Given the description of an element on the screen output the (x, y) to click on. 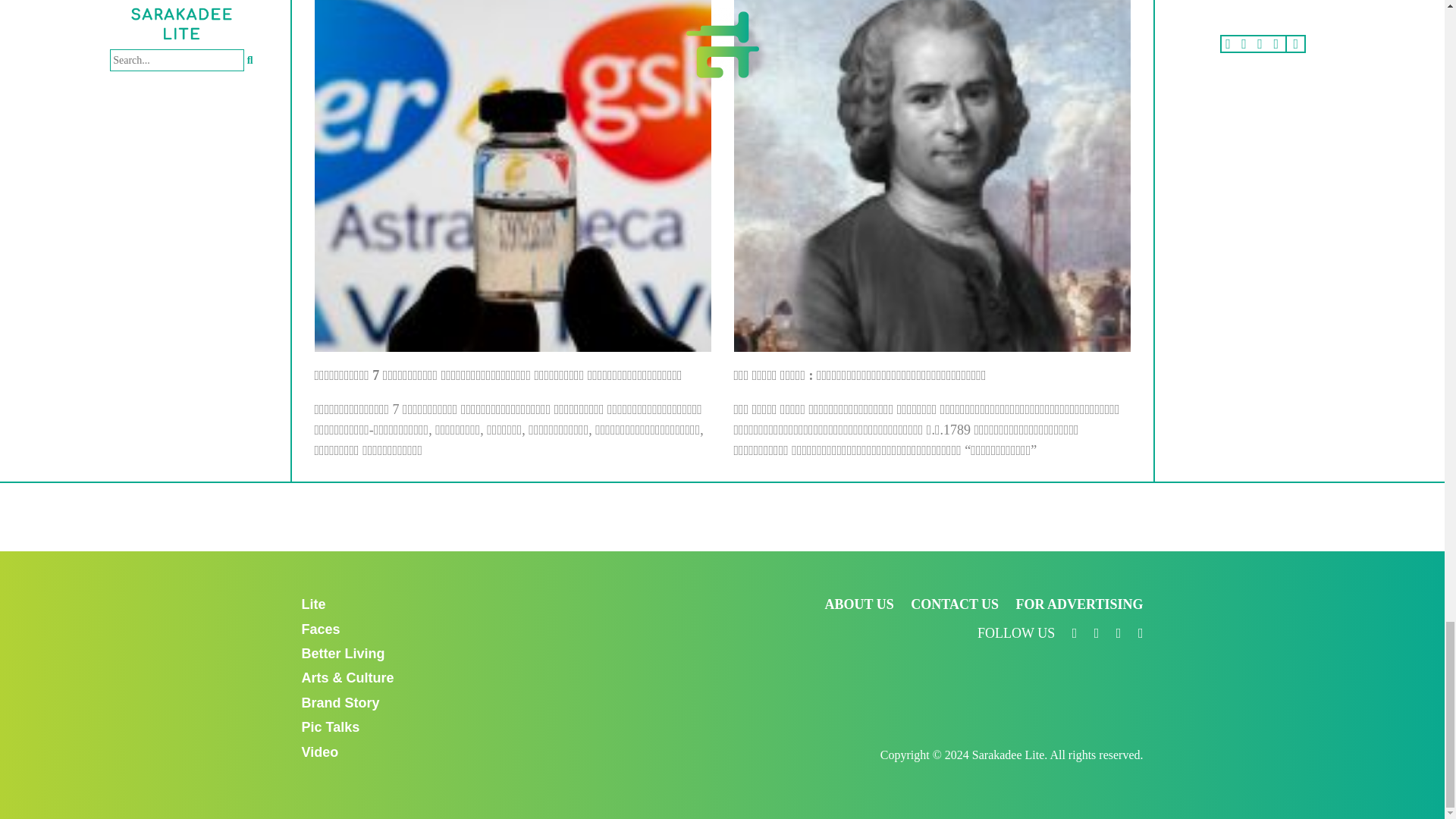
Lite (313, 604)
Better Living (343, 653)
Faces (320, 629)
